Given the description of an element on the screen output the (x, y) to click on. 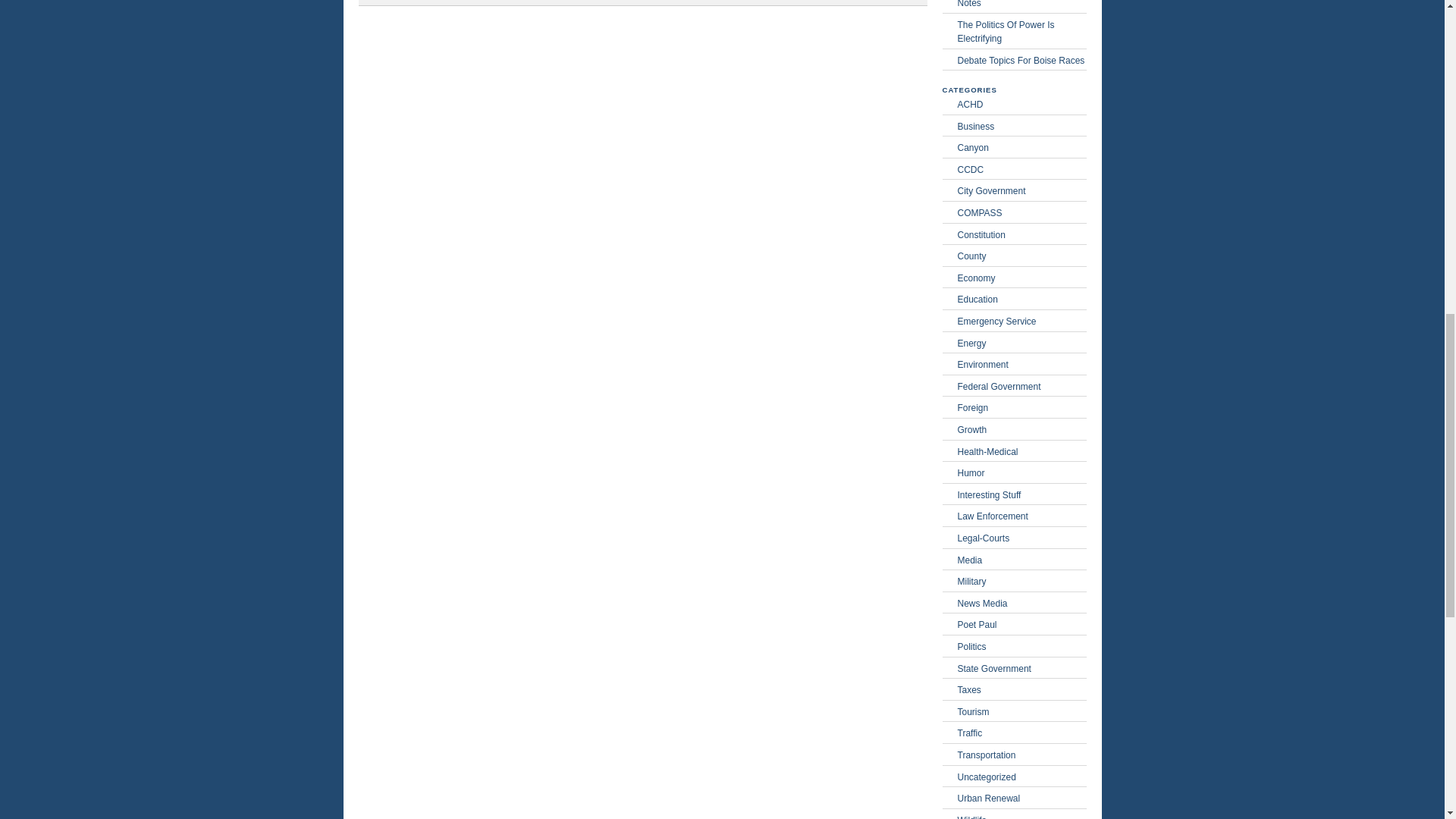
Debate Topics For Boise Races (1021, 60)
ACHD (1021, 104)
CCDC (1021, 169)
The Politics Of Power Is Electrifying (1021, 31)
Boise-Ada Election Takeaway Notes (1021, 4)
Canyon (1021, 147)
Business (1021, 126)
